Given the description of an element on the screen output the (x, y) to click on. 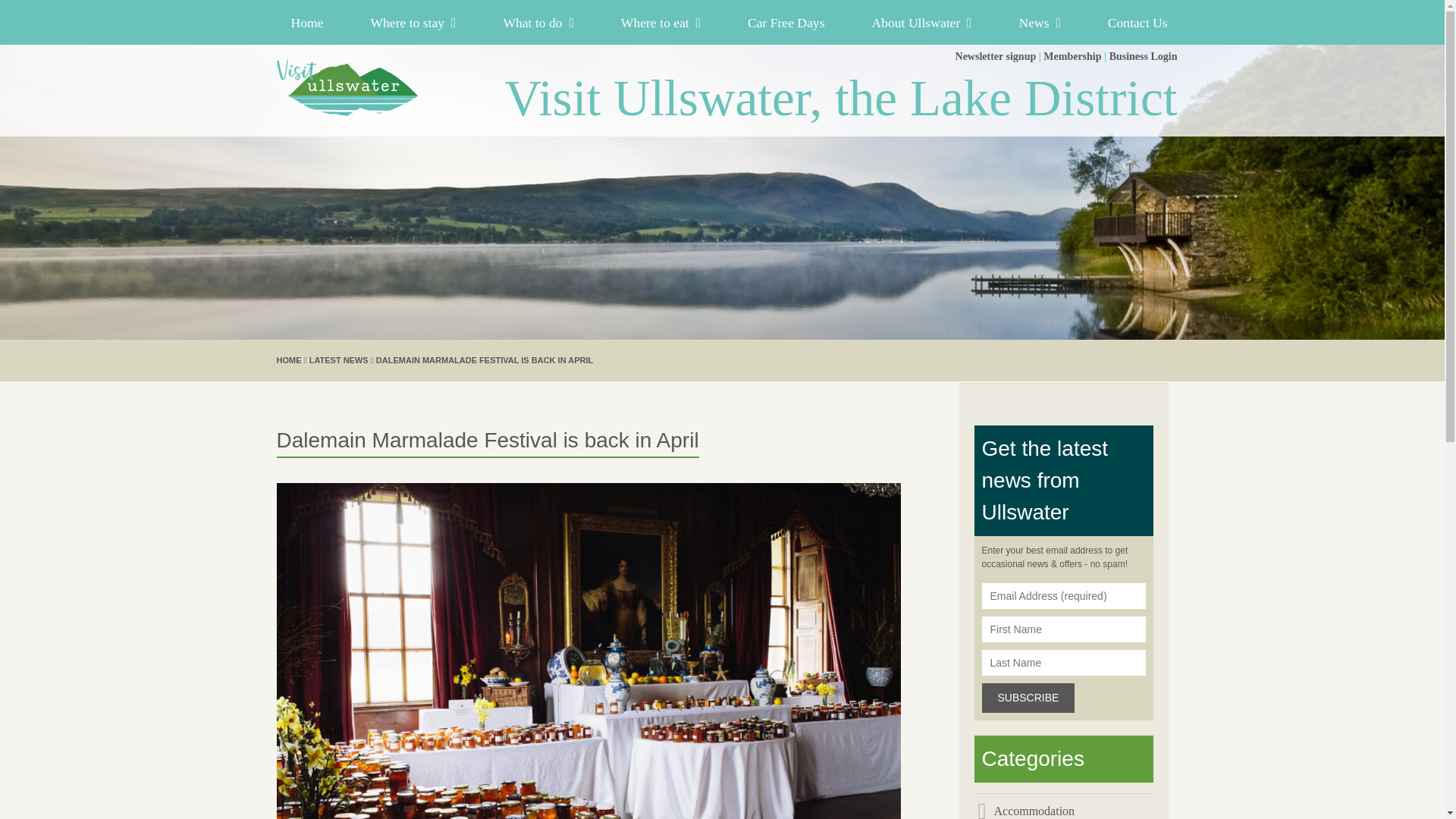
Business Login (1143, 56)
About Ullswater (922, 22)
HOME (288, 359)
Where to stay (412, 22)
Contact Us (1130, 22)
Newsletter signup (995, 56)
Subscribe (1027, 697)
Ullswater Association (348, 87)
What to do (537, 22)
